Given the description of an element on the screen output the (x, y) to click on. 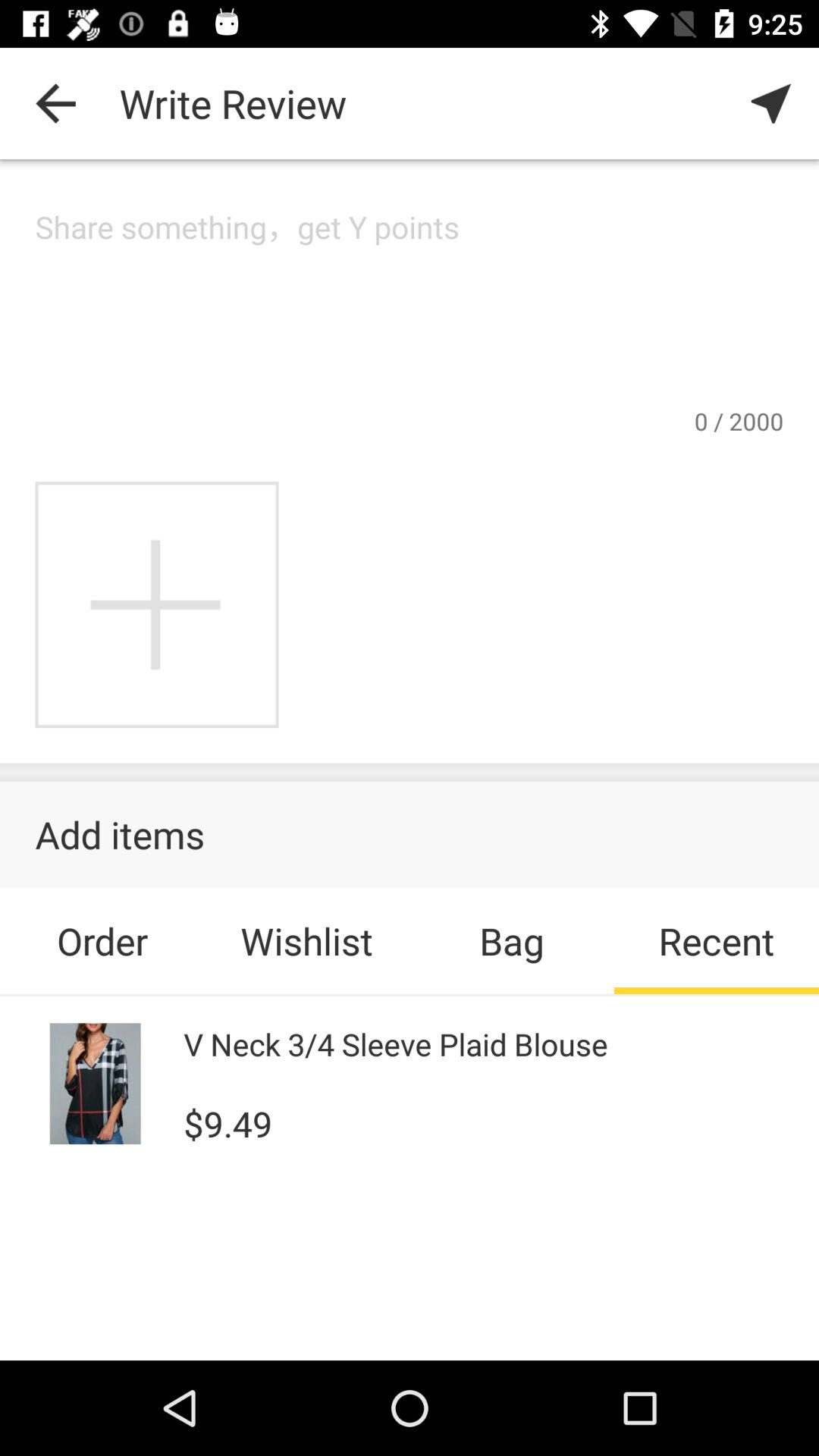
scroll until the v neck 3 icon (395, 1043)
